Given the description of an element on the screen output the (x, y) to click on. 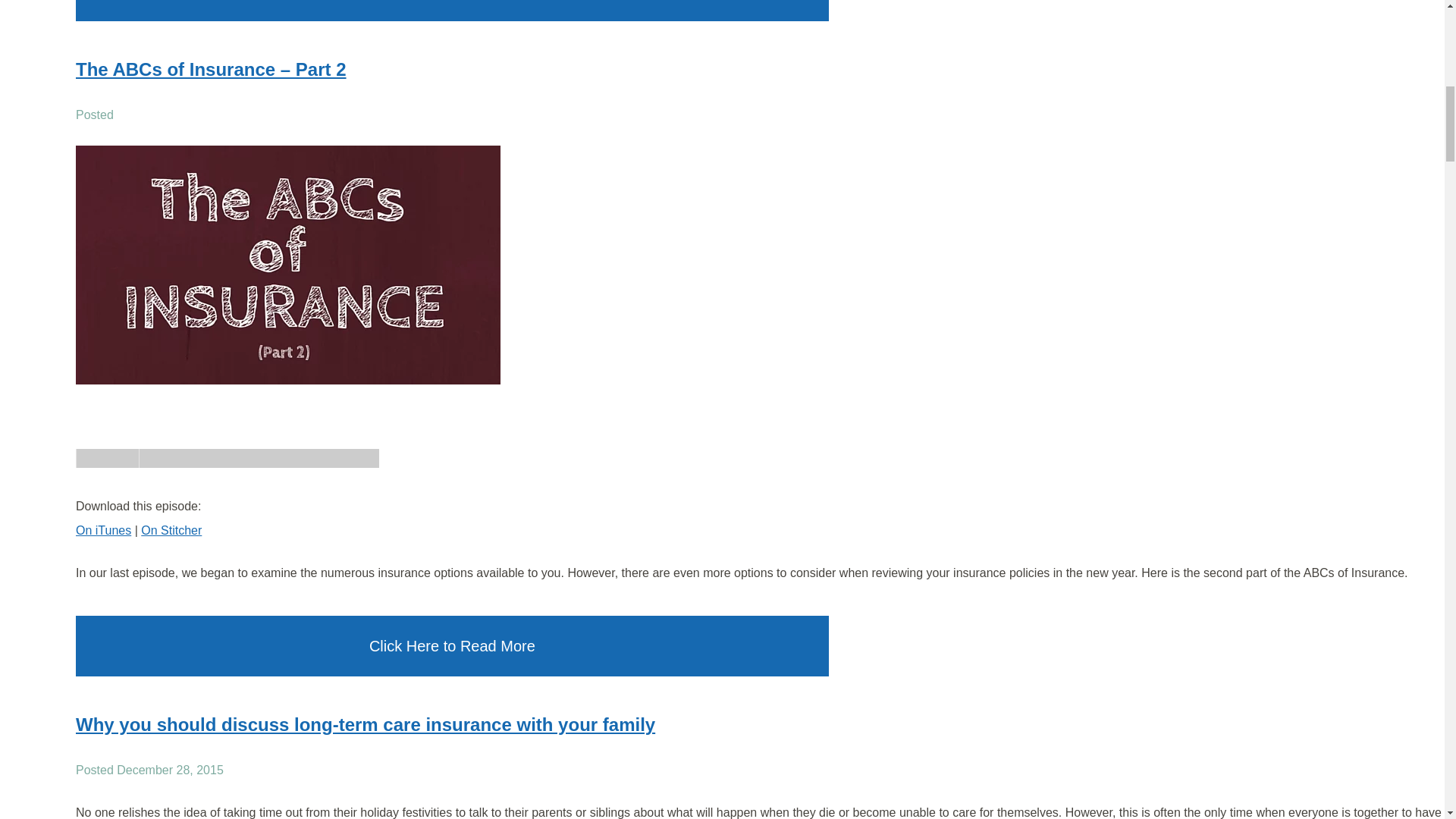
Read more (210, 68)
Read more (365, 724)
